Given the description of an element on the screen output the (x, y) to click on. 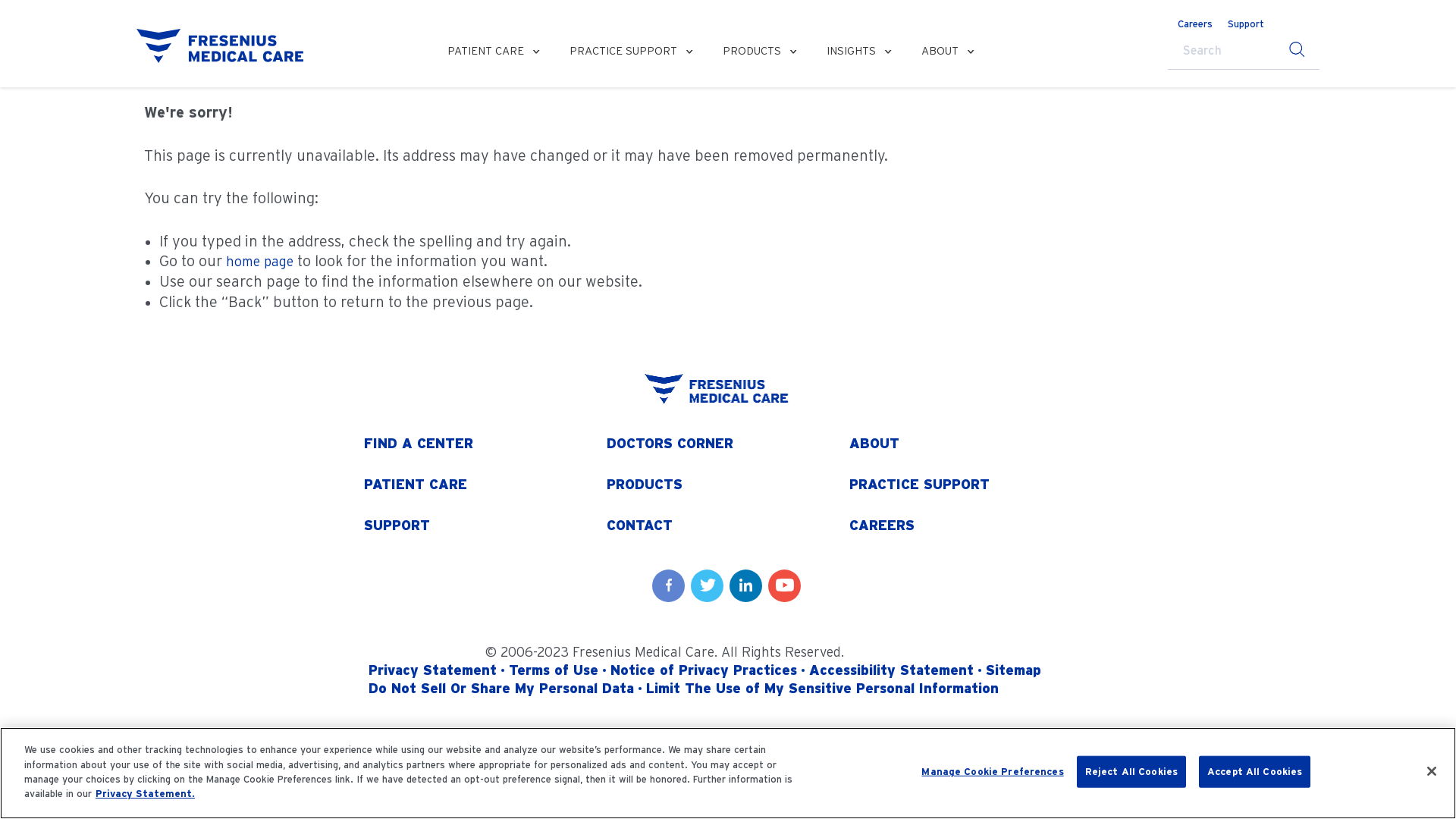
CONTACT Element type: text (727, 525)
PRACTICE SUPPORT Element type: text (630, 51)
Twitter Element type: text (706, 585)
Do Not Sell Or Share My Personal Data Element type: text (500, 688)
Support Element type: text (1245, 23)
Reject All Cookies Element type: text (1131, 771)
PRODUCTS Element type: text (759, 51)
PRODUCTS Element type: text (727, 484)
Terms of Use Element type: text (553, 670)
DOCTORS CORNER Element type: text (727, 443)
Notice of Privacy Practices Element type: text (703, 670)
INSIGHTS Element type: text (858, 51)
Manage Cookie Preferences Element type: text (992, 771)
Youtube Element type: text (784, 585)
home page Element type: text (259, 261)
ABOUT Element type: text (947, 51)
PATIENT CARE Element type: text (485, 484)
PRACTICE SUPPORT Element type: text (970, 484)
Sitemap Element type: text (1013, 670)
Privacy Statement Element type: text (432, 670)
Facebook Element type: text (668, 585)
ABOUT Element type: text (970, 443)
Accept All Cookies Element type: text (1254, 771)
CAREERS Element type: text (970, 525)
FIND A CENTER Element type: text (485, 443)
SUPPORT Element type: text (485, 525)
Limit The Use of My Sensitive Personal Information Element type: text (822, 688)
Accessibility Statement Element type: text (891, 670)
Privacy Statement. Element type: text (144, 793)
PATIENT CARE Element type: text (493, 51)
Careers Element type: text (1194, 23)
LinkedIn Element type: text (745, 585)
